Given the description of an element on the screen output the (x, y) to click on. 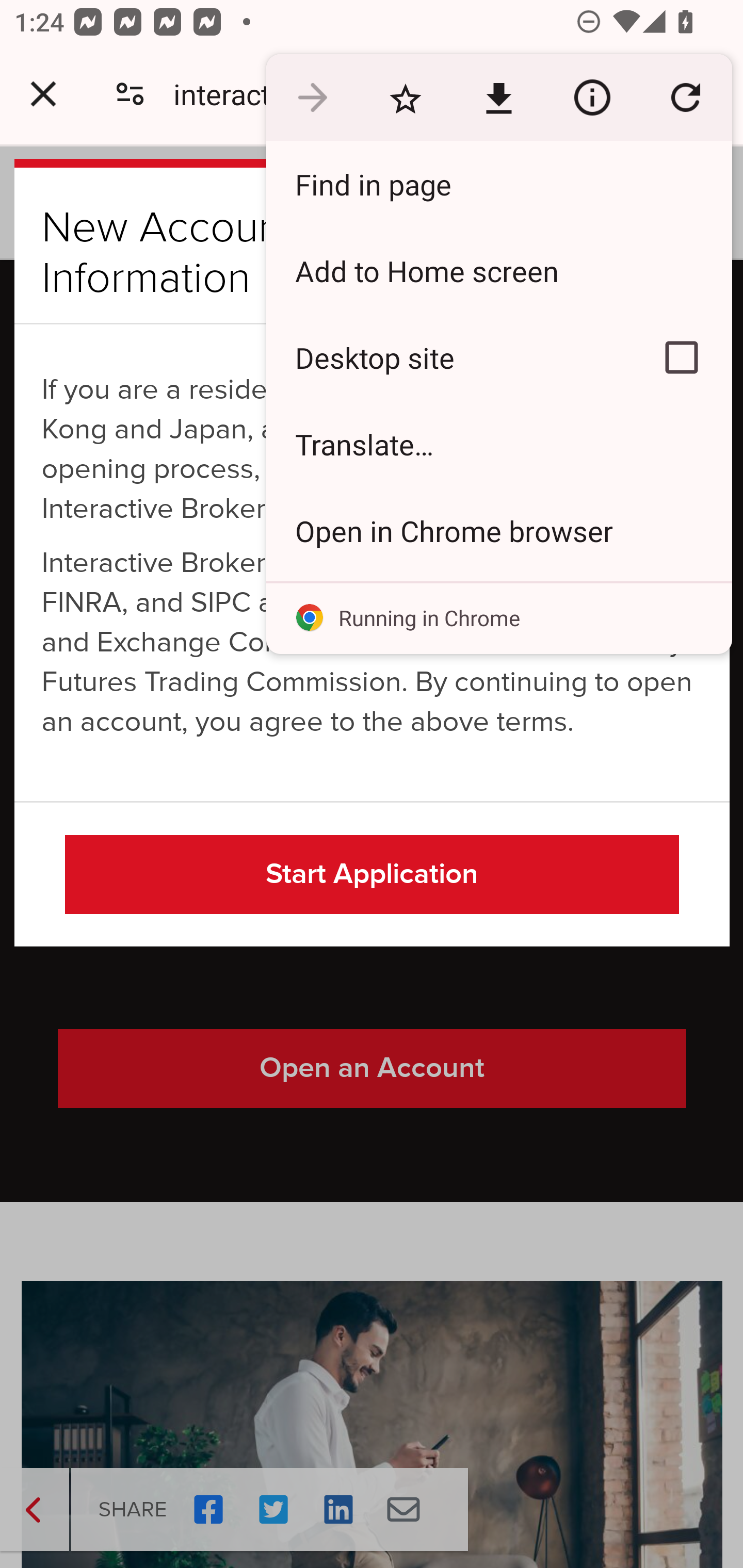
Go forward (311, 97)
Bookmark (404, 97)
Download this page (498, 97)
View site information (591, 97)
Refresh (684, 97)
Find in page (498, 184)
Add to Home screen (498, 270)
Desktop site Turn on Request desktop site (447, 357)
Translate… (498, 444)
Open in Chrome browser (498, 530)
